Given the description of an element on the screen output the (x, y) to click on. 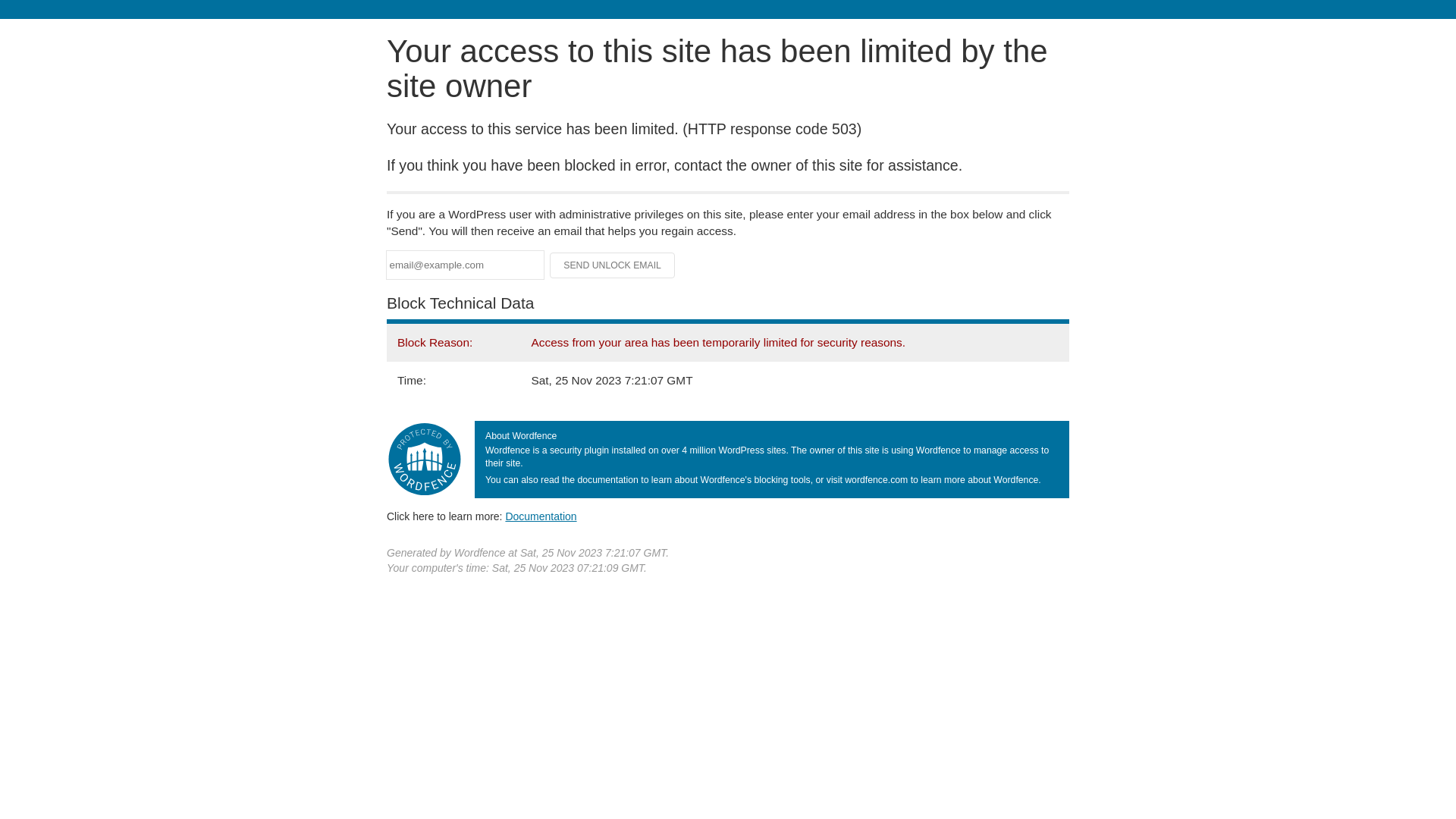
Send Unlock Email Element type: text (612, 265)
Documentation Element type: text (540, 516)
